Given the description of an element on the screen output the (x, y) to click on. 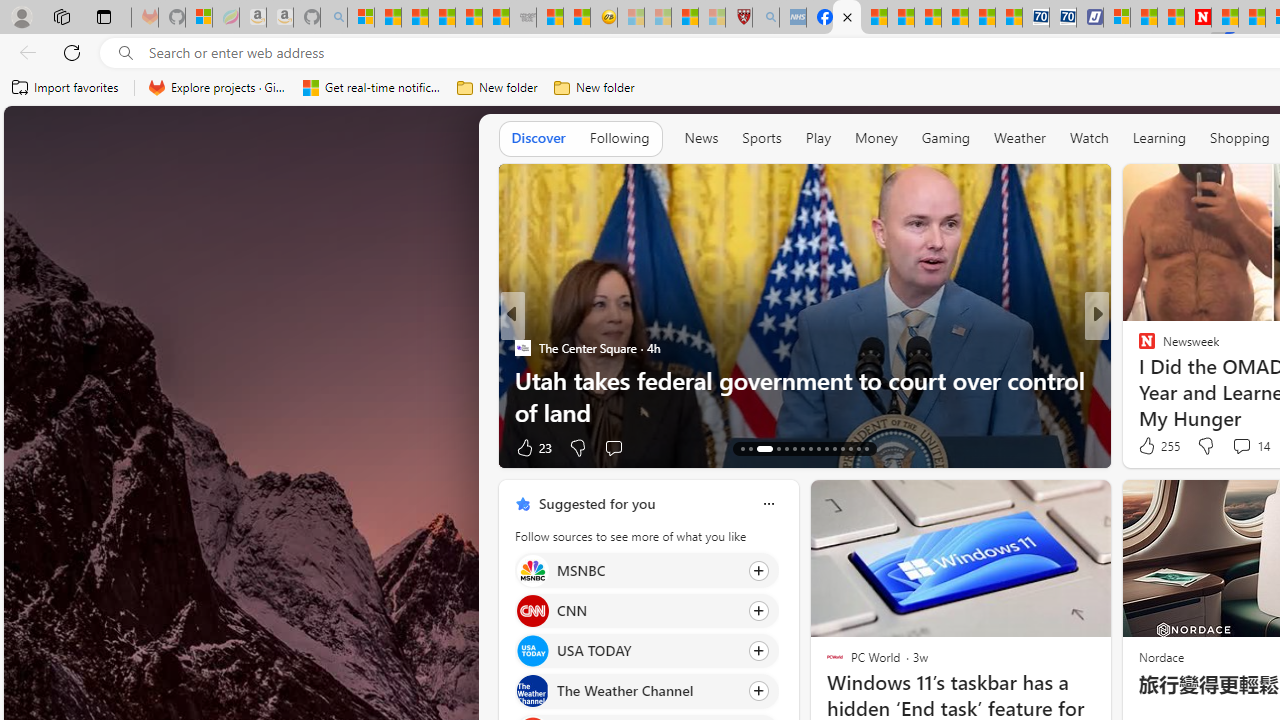
Click to follow source The Weather Channel (646, 691)
317 Like (1151, 447)
Metro (1138, 347)
639 Like (1151, 447)
21 Like (532, 447)
5 Like (1145, 447)
View comments 114 Comment (1234, 447)
